Given the description of an element on the screen output the (x, y) to click on. 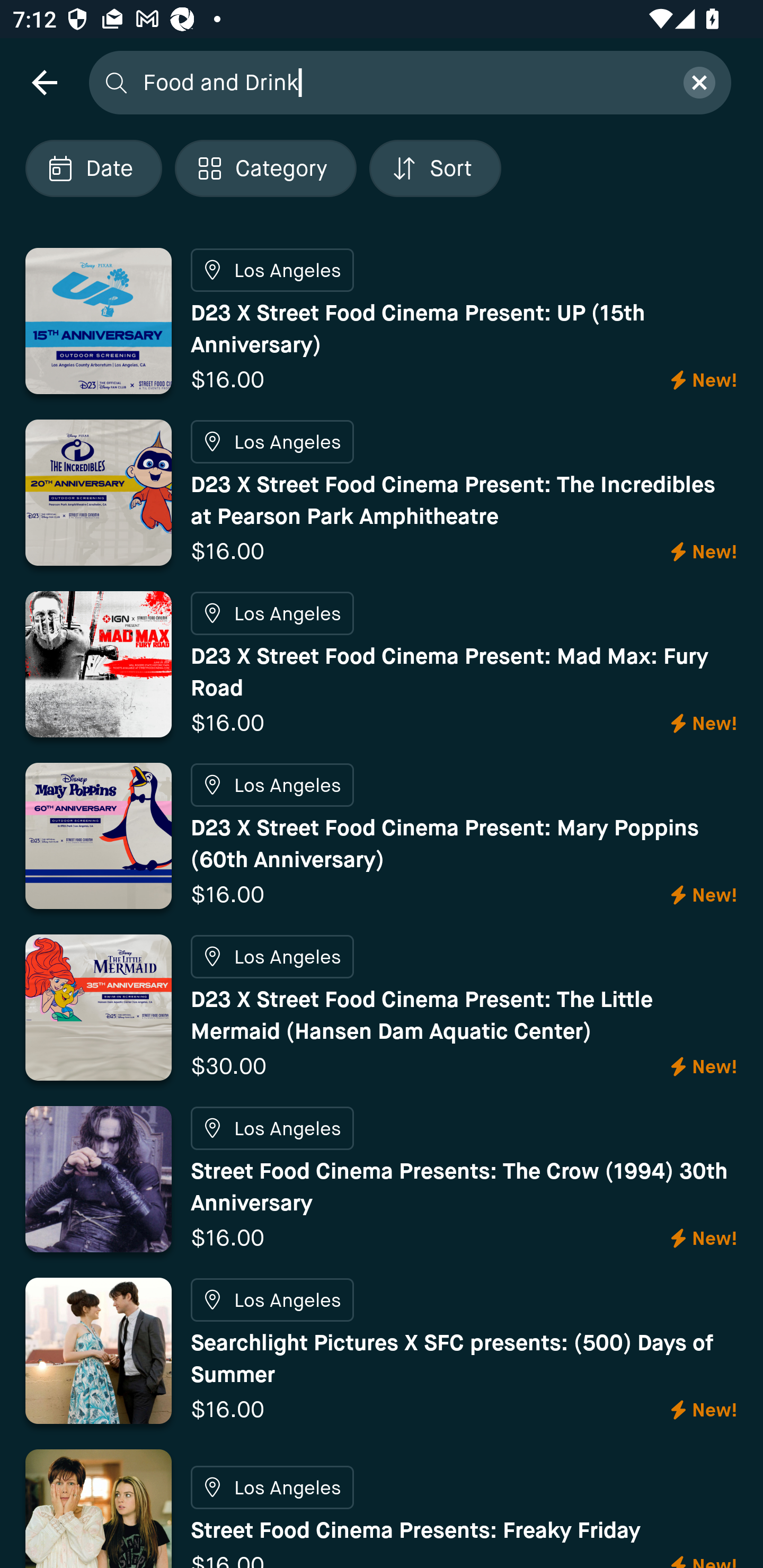
navigation icon (44, 81)
Food and Drink (402, 81)
Localized description Date (93, 168)
Localized description Category (265, 168)
Localized description Sort (435, 168)
